Given the description of an element on the screen output the (x, y) to click on. 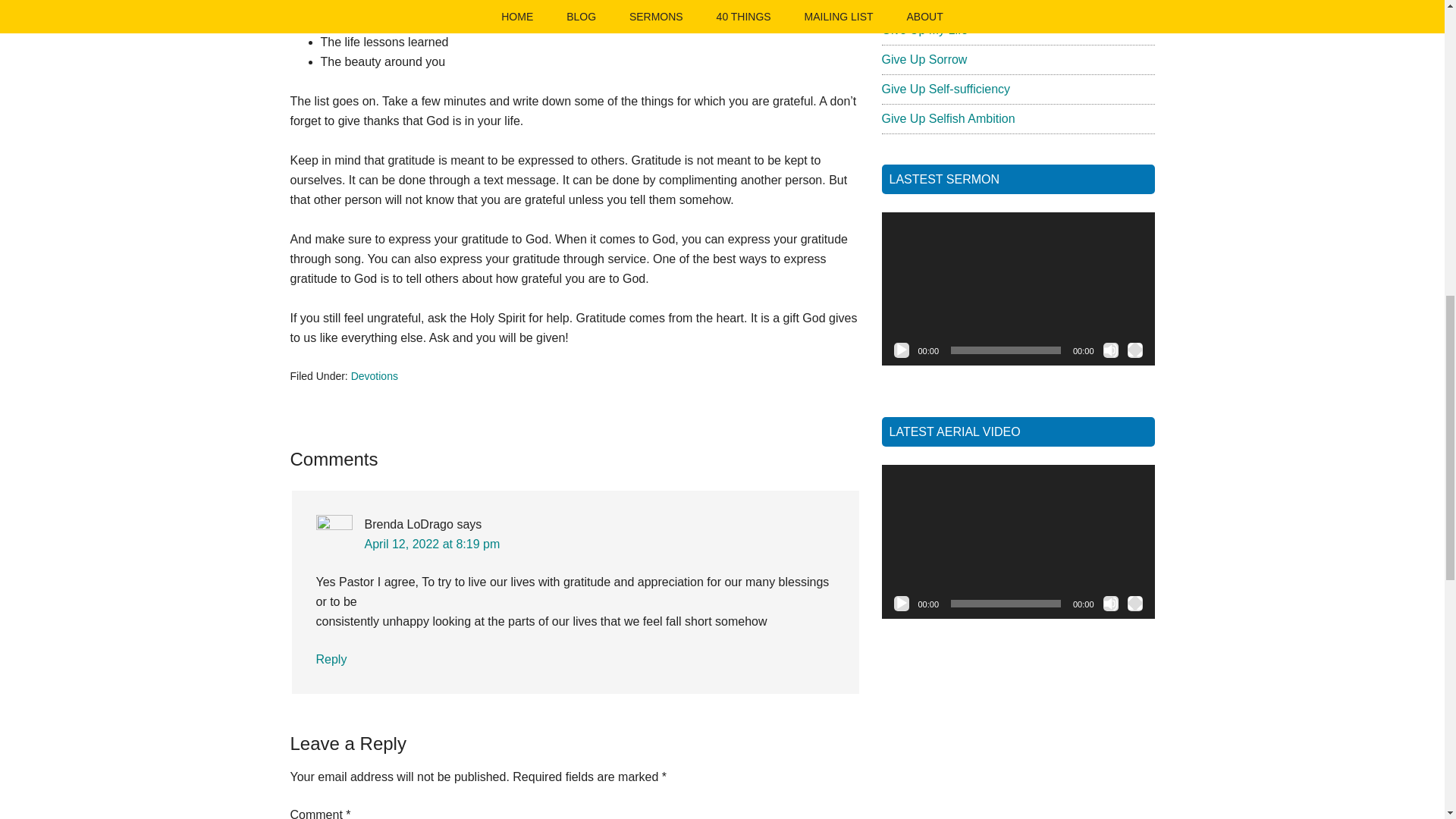
Fullscreen (1133, 603)
Give Up Sorrow (923, 59)
Give Up Selfish Ambition (947, 118)
April 12, 2022 at 8:19 pm (431, 543)
Play (900, 350)
Give Up Self-sufficiency (945, 88)
Mute (1110, 603)
Reply (330, 658)
Fullscreen (1133, 350)
Mute (1110, 350)
